Given the description of an element on the screen output the (x, y) to click on. 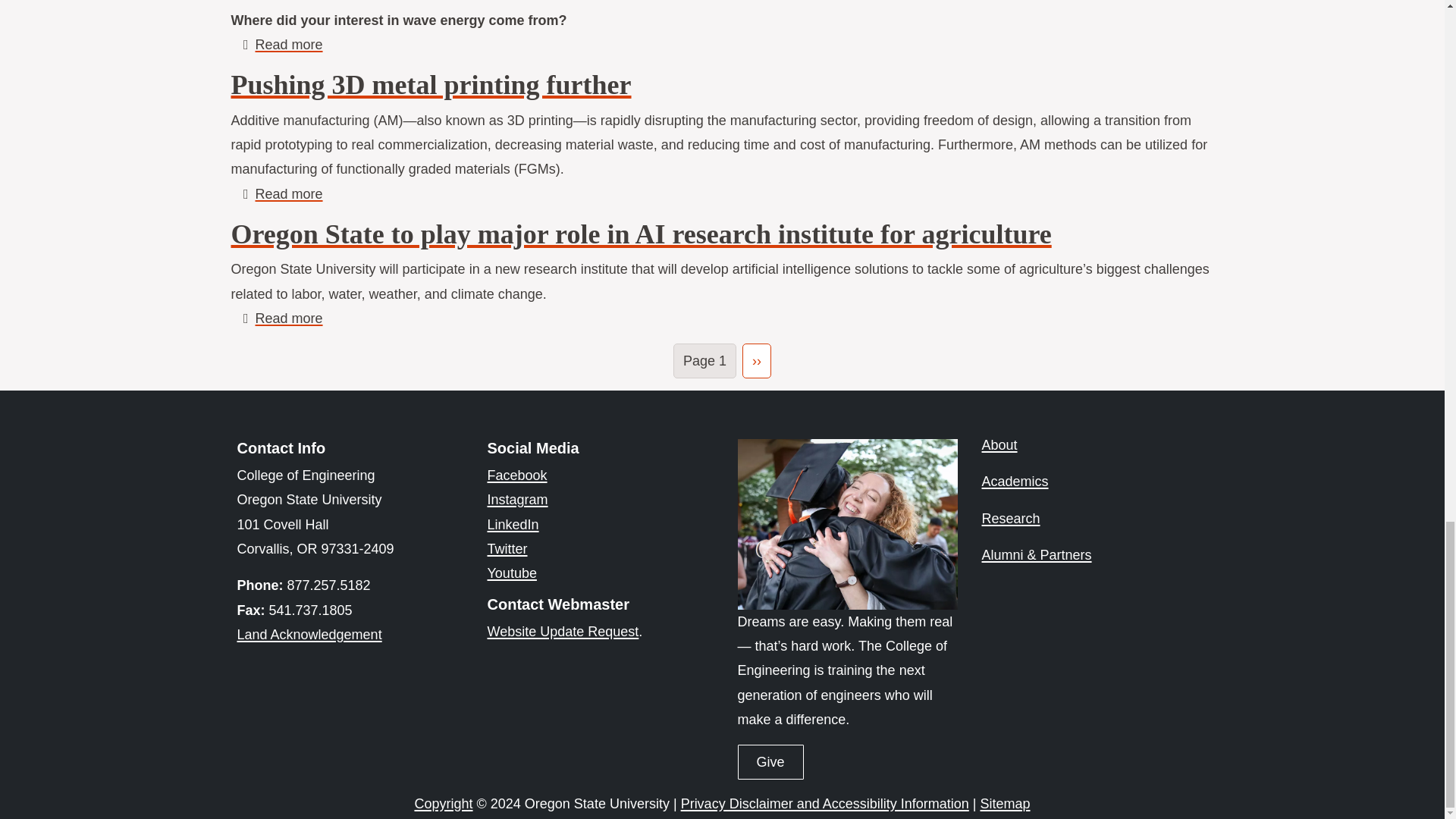
Research (1010, 518)
Pushing 3D metal printing further (287, 193)
About (998, 444)
Academics (1014, 481)
Give (769, 761)
